Given the description of an element on the screen output the (x, y) to click on. 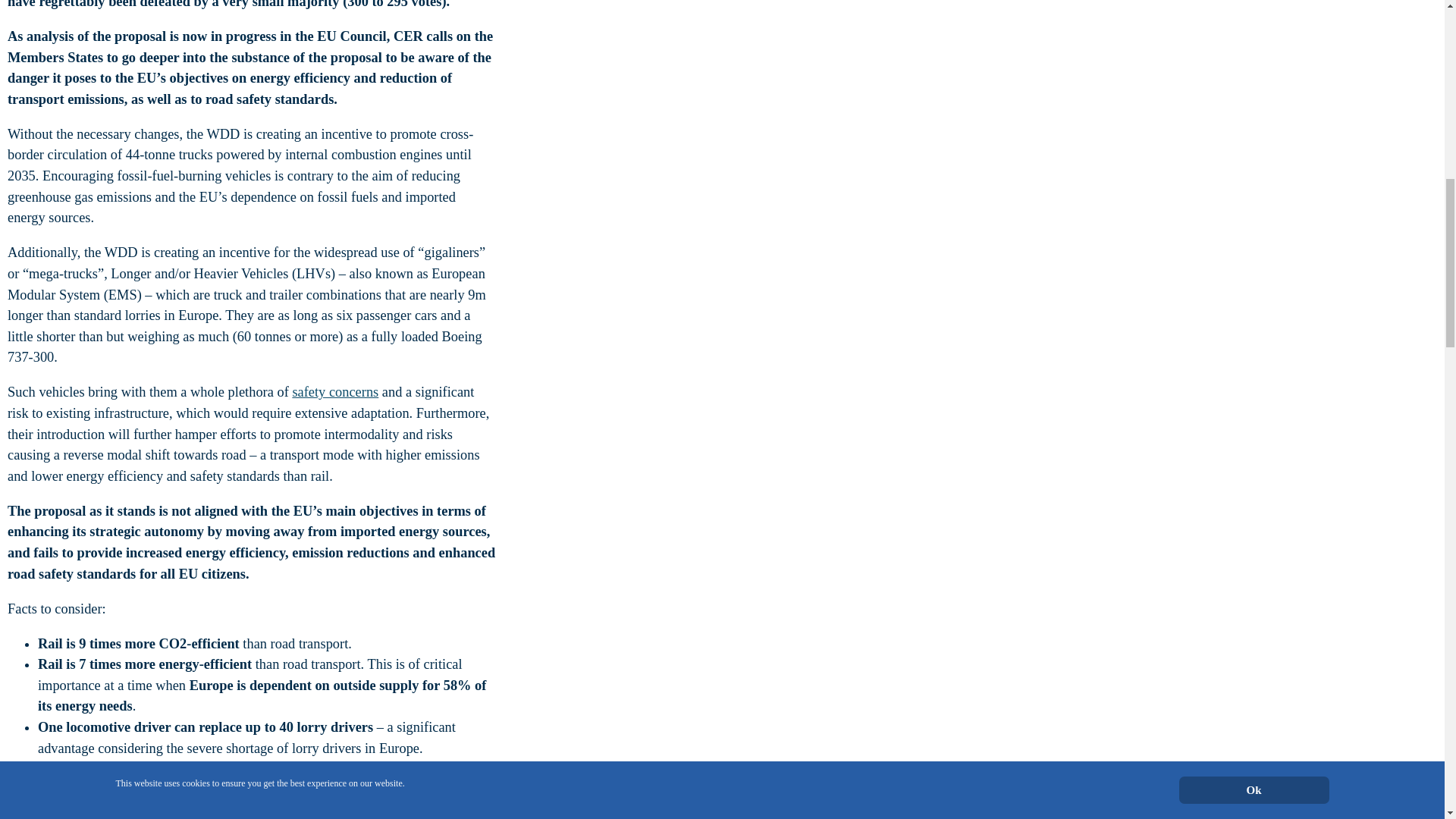
safety concerns (335, 391)
